Given the description of an element on the screen output the (x, y) to click on. 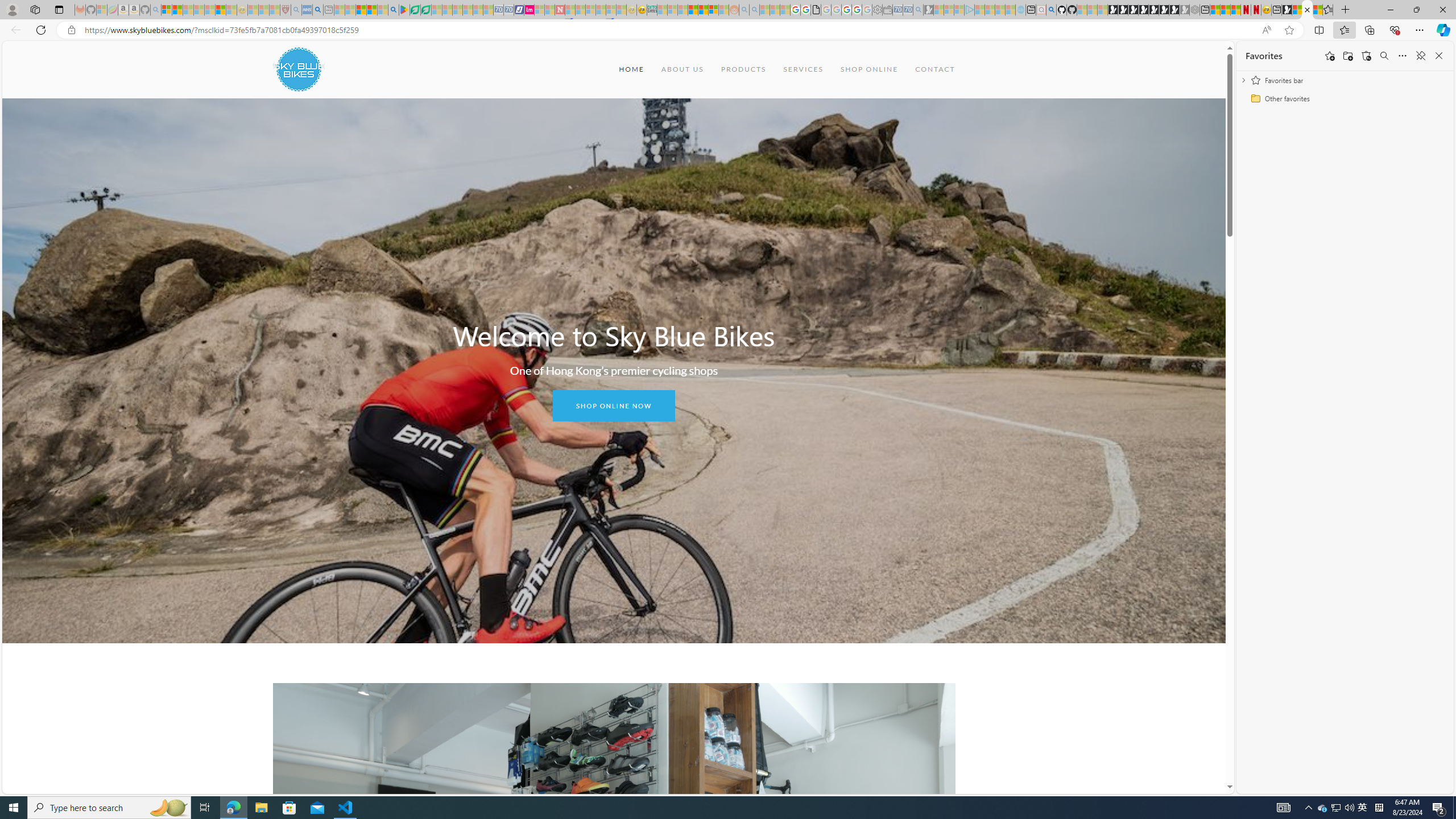
Play Cave FRVR in your browser | Games from Microsoft Start (1132, 9)
Unpin favorites (1420, 55)
New Report Confirms 2023 Was Record Hot | Watch - Sleeping (209, 9)
SHOP ONLINE (869, 68)
SERVICES (802, 68)
